Given the description of an element on the screen output the (x, y) to click on. 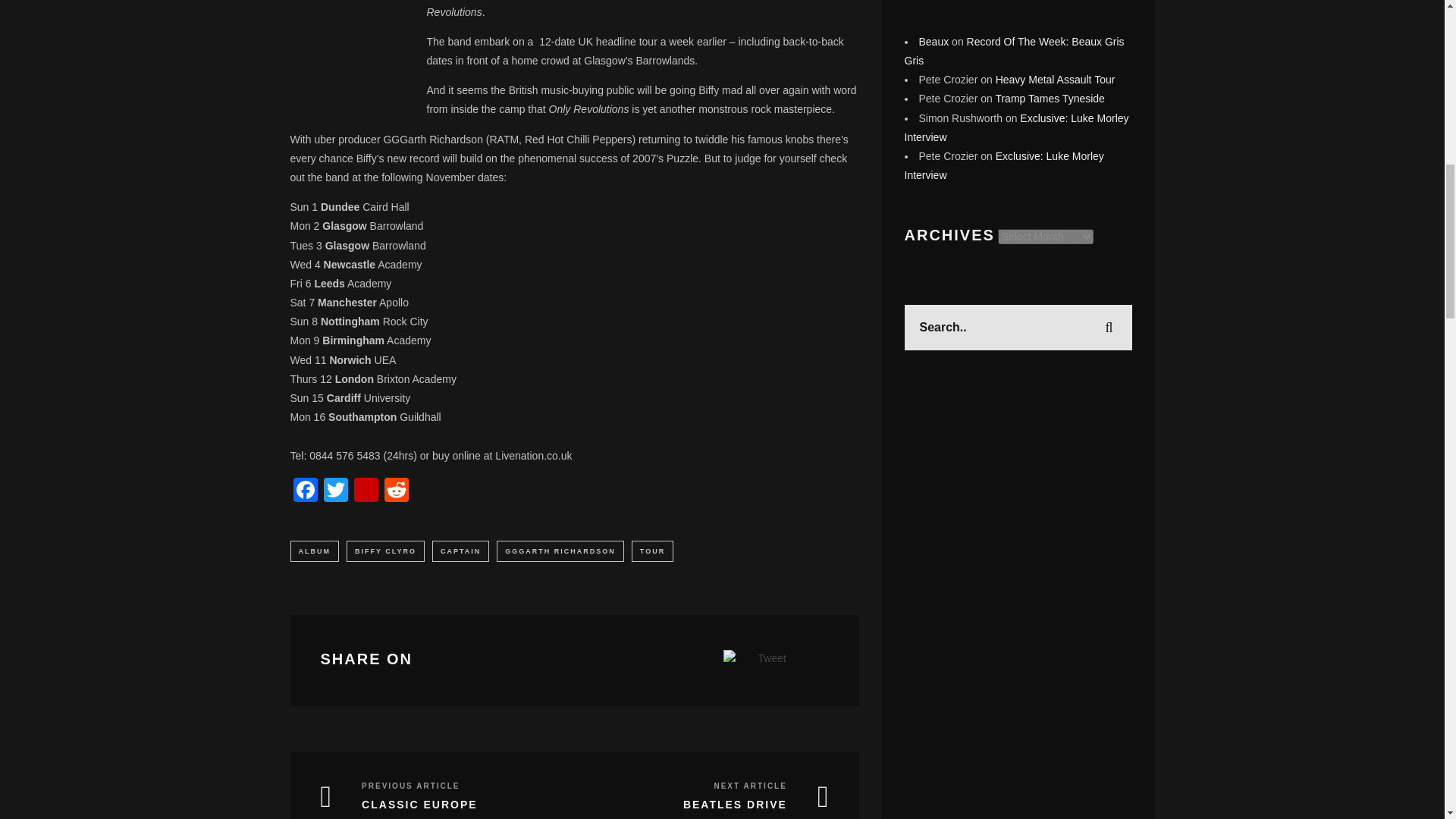
Twitter (335, 491)
Facebook (304, 491)
Flipboard (365, 491)
biffyclyronew2 (346, 38)
